Given the description of an element on the screen output the (x, y) to click on. 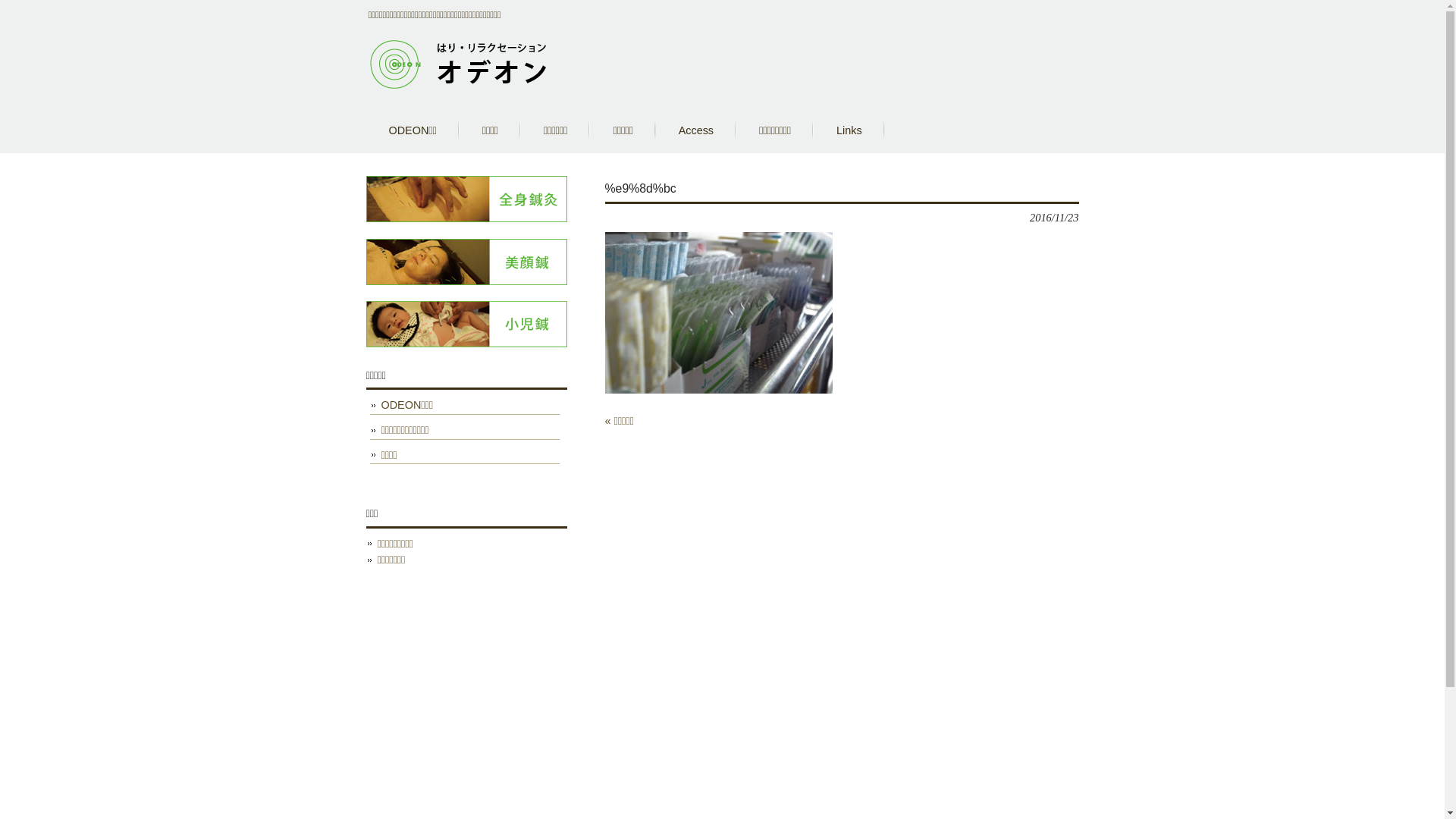
Access Element type: text (695, 130)
Links Element type: text (849, 130)
